Given the description of an element on the screen output the (x, y) to click on. 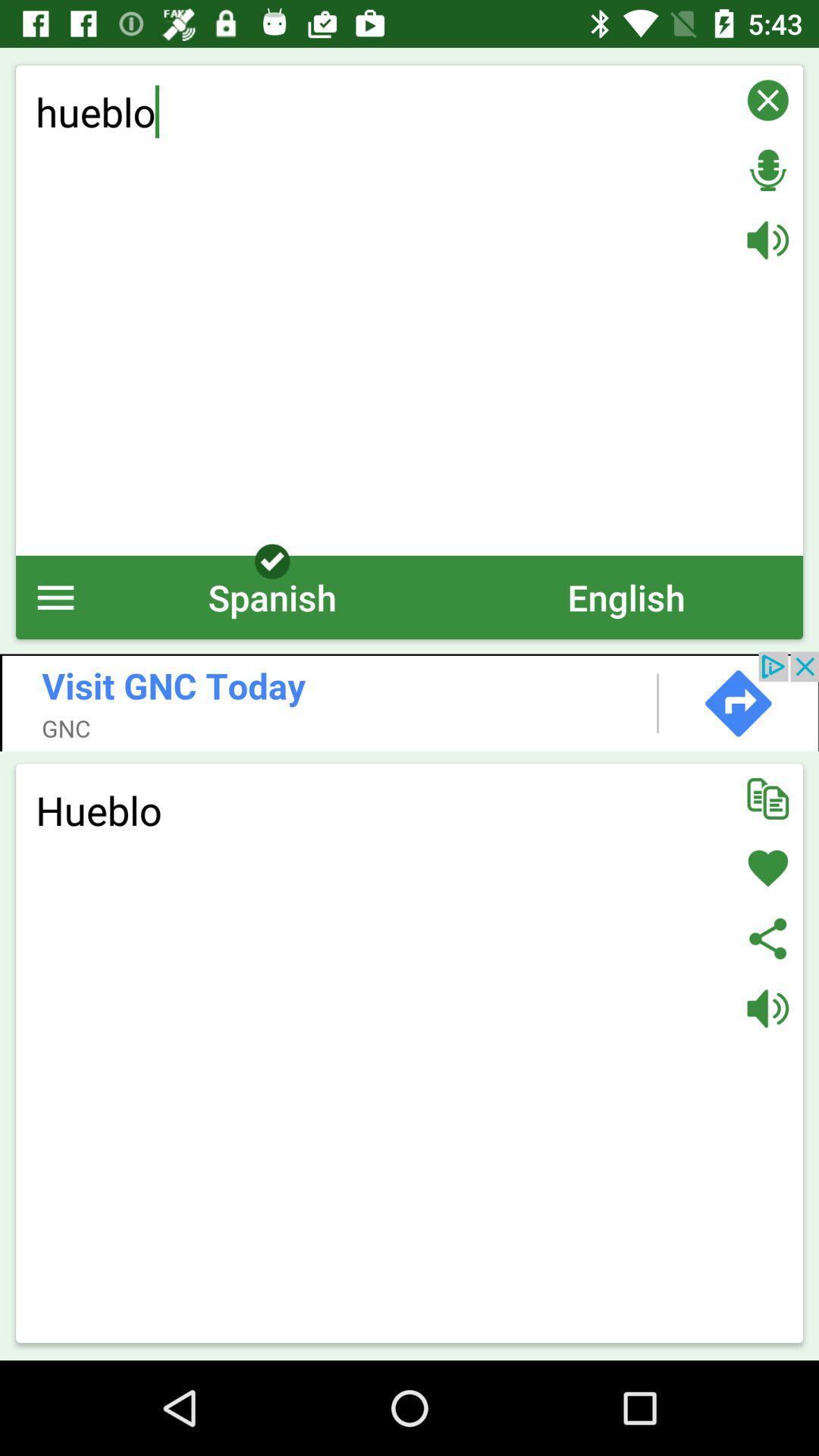
open item next to the spanish icon (626, 597)
